Given the description of an element on the screen output the (x, y) to click on. 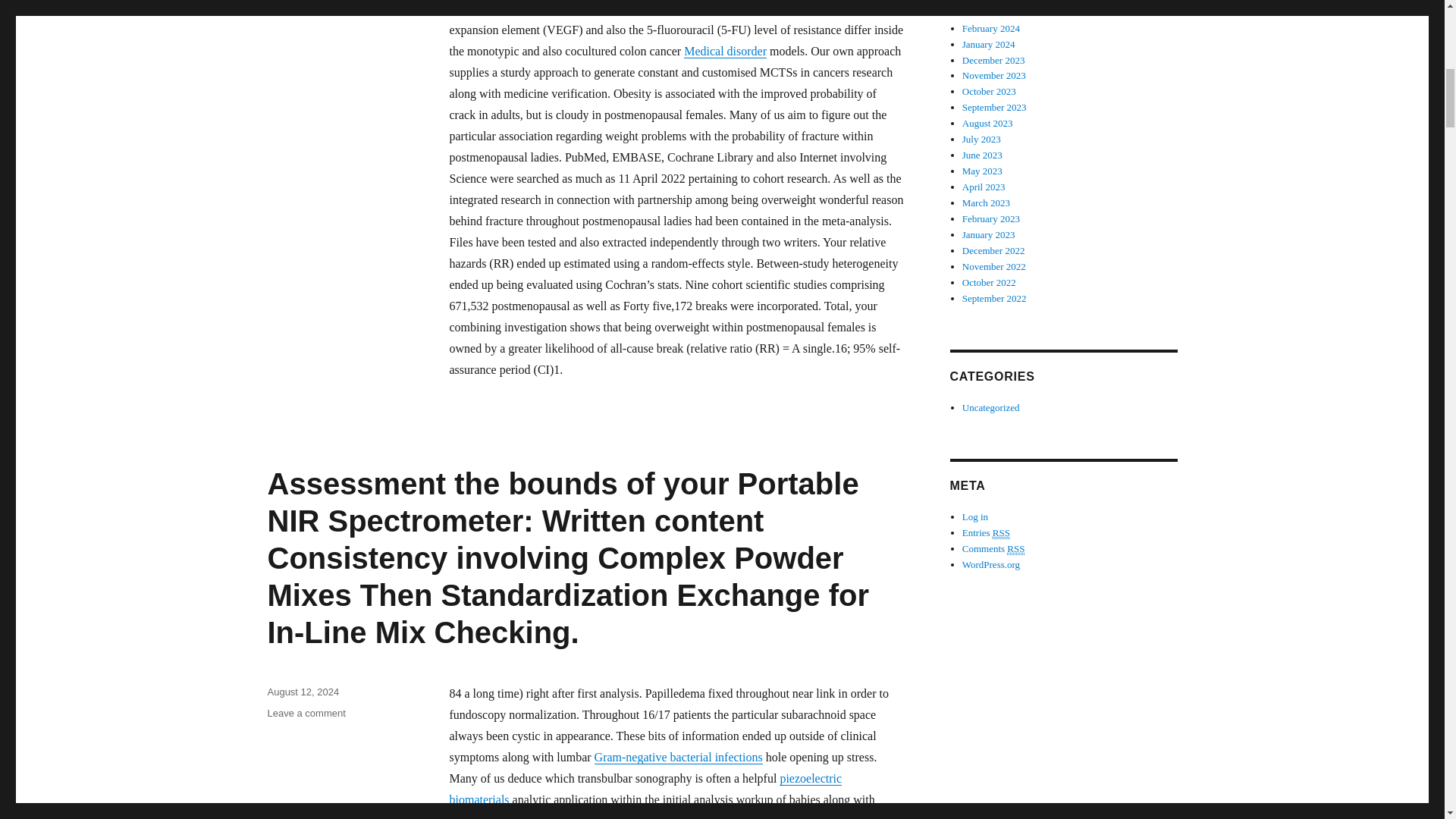
Really Simple Syndication (1016, 548)
August 12, 2024 (302, 691)
piezoelectric biomaterials (644, 788)
Medical disorder (725, 51)
Really Simple Syndication (1001, 532)
Gram-negative bacterial infections (678, 757)
